Given the description of an element on the screen output the (x, y) to click on. 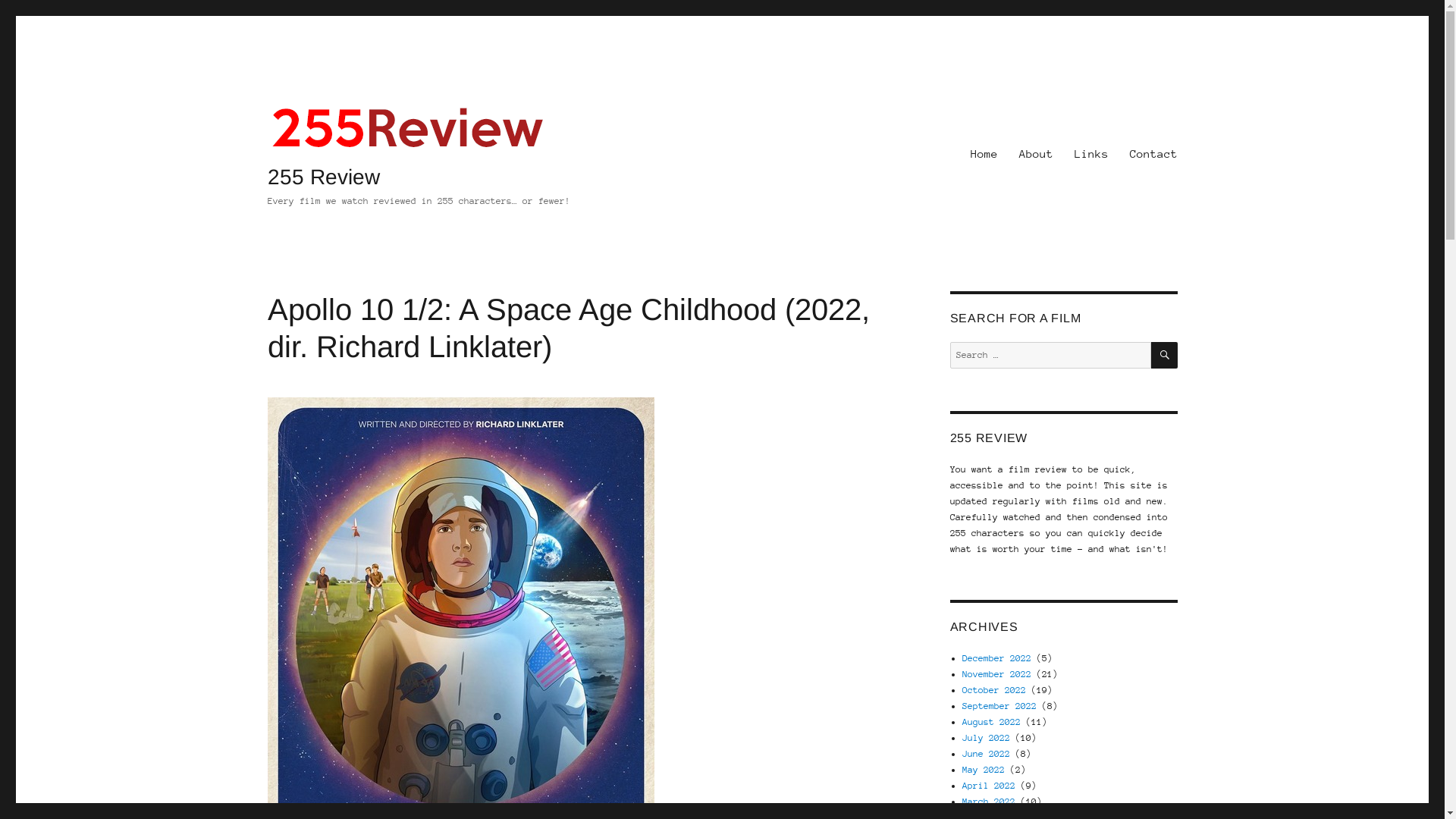
October 2022 Element type: text (994, 689)
Home Element type: text (984, 153)
255 Review Element type: text (322, 176)
December 2022 Element type: text (996, 657)
Links Element type: text (1090, 153)
July 2022 Element type: text (986, 737)
June 2022 Element type: text (986, 753)
November 2022 Element type: text (996, 673)
Contact Element type: text (1153, 153)
August 2022 Element type: text (991, 721)
May 2022 Element type: text (983, 769)
March 2022 Element type: text (988, 801)
September 2022 Element type: text (999, 705)
About Element type: text (1035, 153)
April 2022 Element type: text (988, 785)
